Given the description of an element on the screen output the (x, y) to click on. 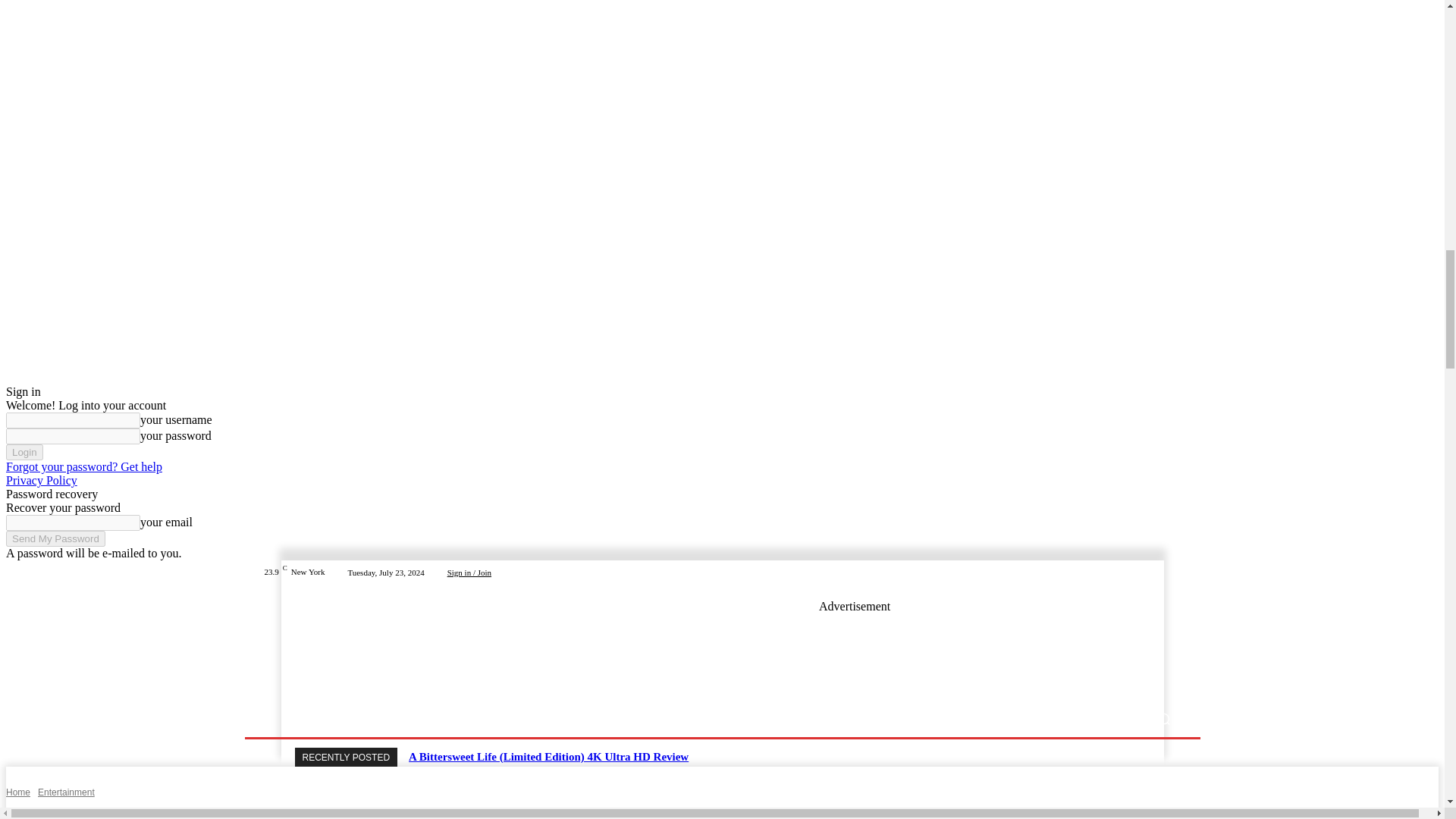
Vimeo (1153, 572)
Facebook (1099, 572)
Login (24, 452)
Youtube (1171, 572)
Instagram (1117, 572)
Twitter (1135, 572)
Send My Password (54, 538)
